Given the description of an element on the screen output the (x, y) to click on. 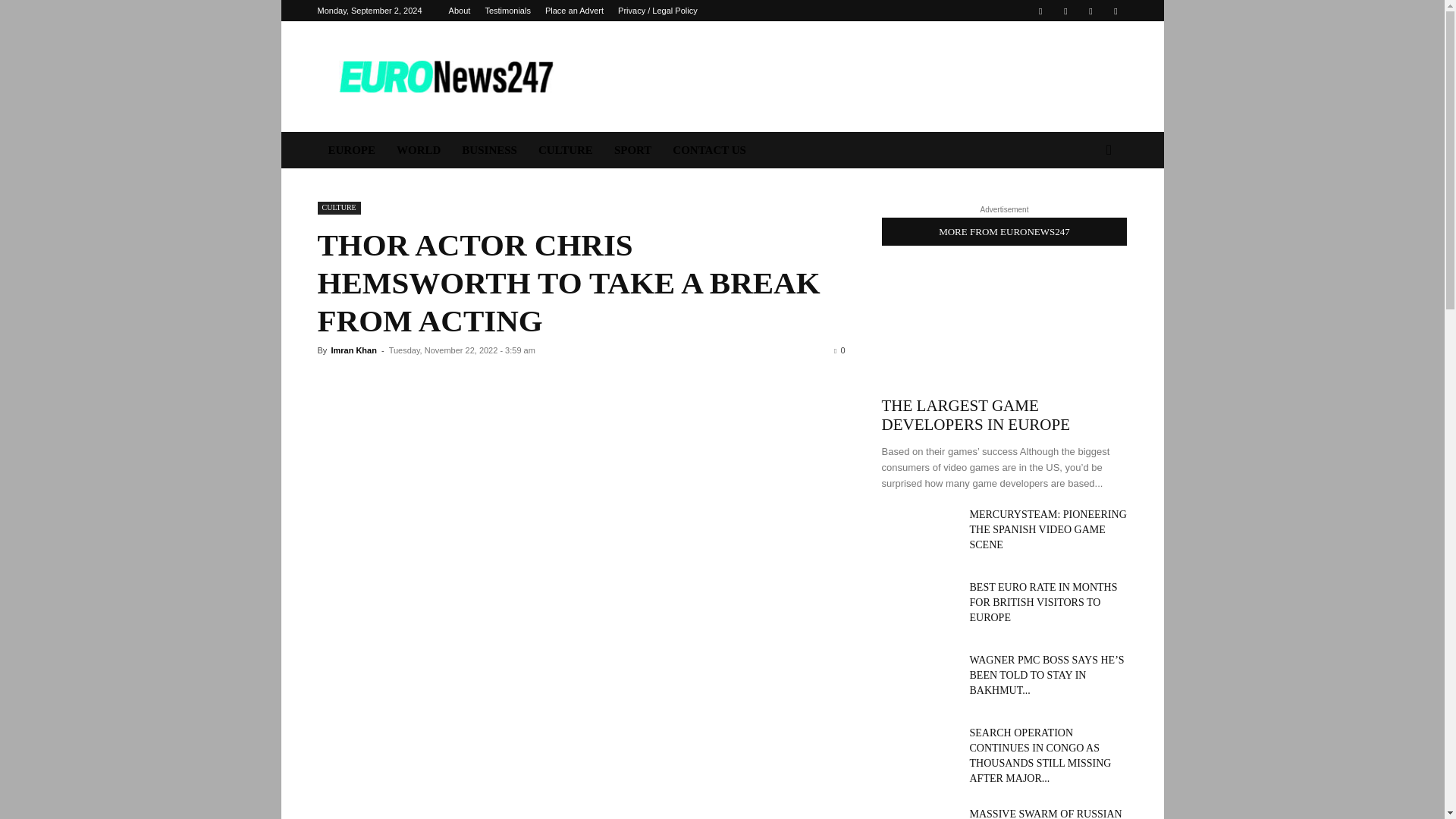
RSS (1090, 10)
Place an Advert (574, 10)
CONTACT US (709, 149)
Testimonials (507, 10)
Imran Khan (353, 349)
Mail (1065, 10)
WORLD (418, 149)
CULTURE (338, 207)
EuroNews247 (445, 76)
Search (1085, 210)
